Given the description of an element on the screen output the (x, y) to click on. 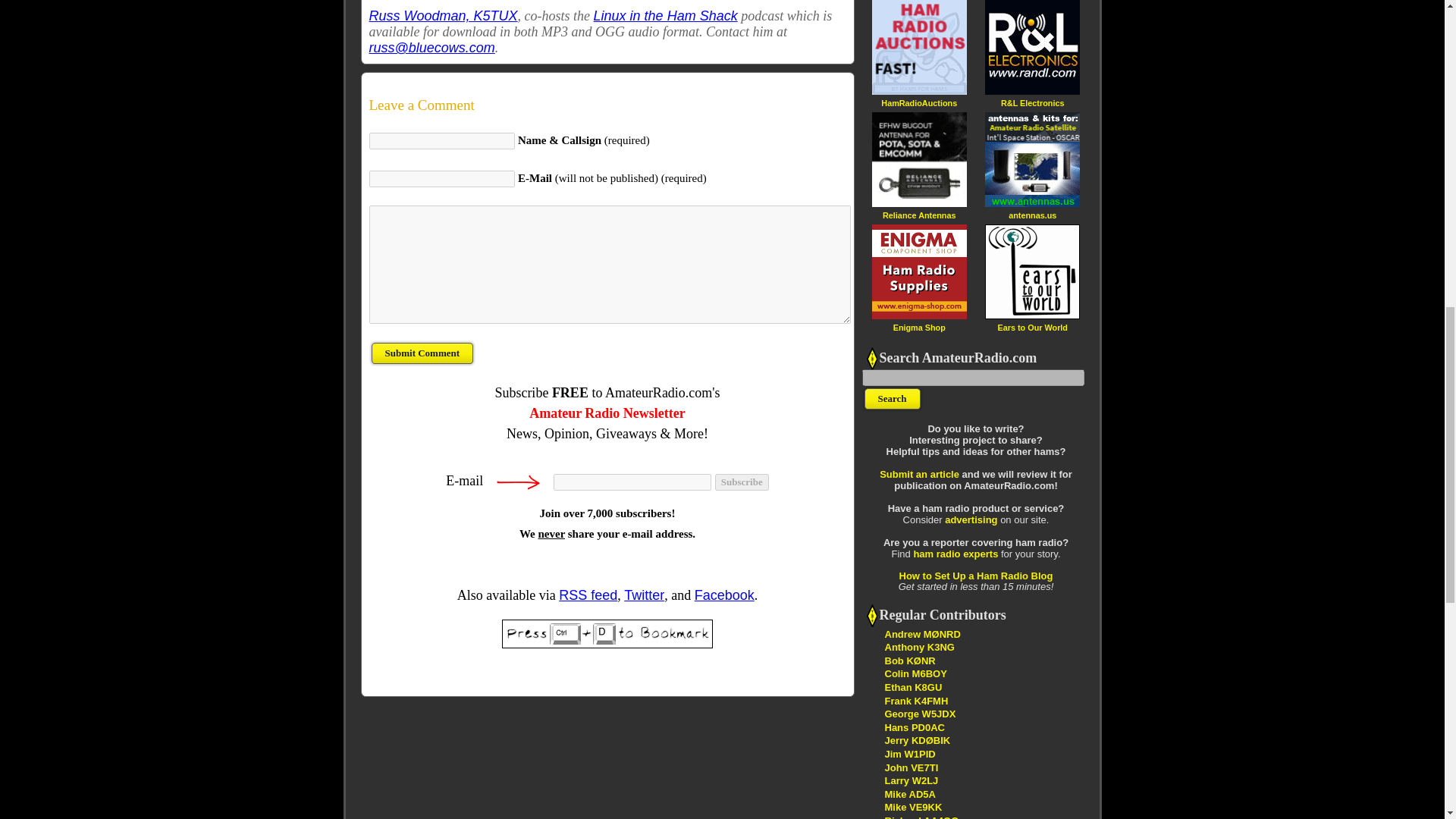
Subscribe (741, 482)
MY HAM RADIO EXPERIENCES (908, 794)
HamRadioAuctions (918, 102)
Submit Comment (422, 353)
Russ Woodman, K5TUX (442, 15)
Twitter (643, 595)
RSS feed (588, 595)
Lower your Power  Raise your Expectations (920, 816)
Thoughts of a Dutch radio amateur (913, 727)
Reliance Antennas (918, 214)
Subscribe (741, 482)
Leave a Comment (606, 105)
Submit Comment (422, 353)
Entertain, Encourage, Educate and Inspire (916, 740)
